Given the description of an element on the screen output the (x, y) to click on. 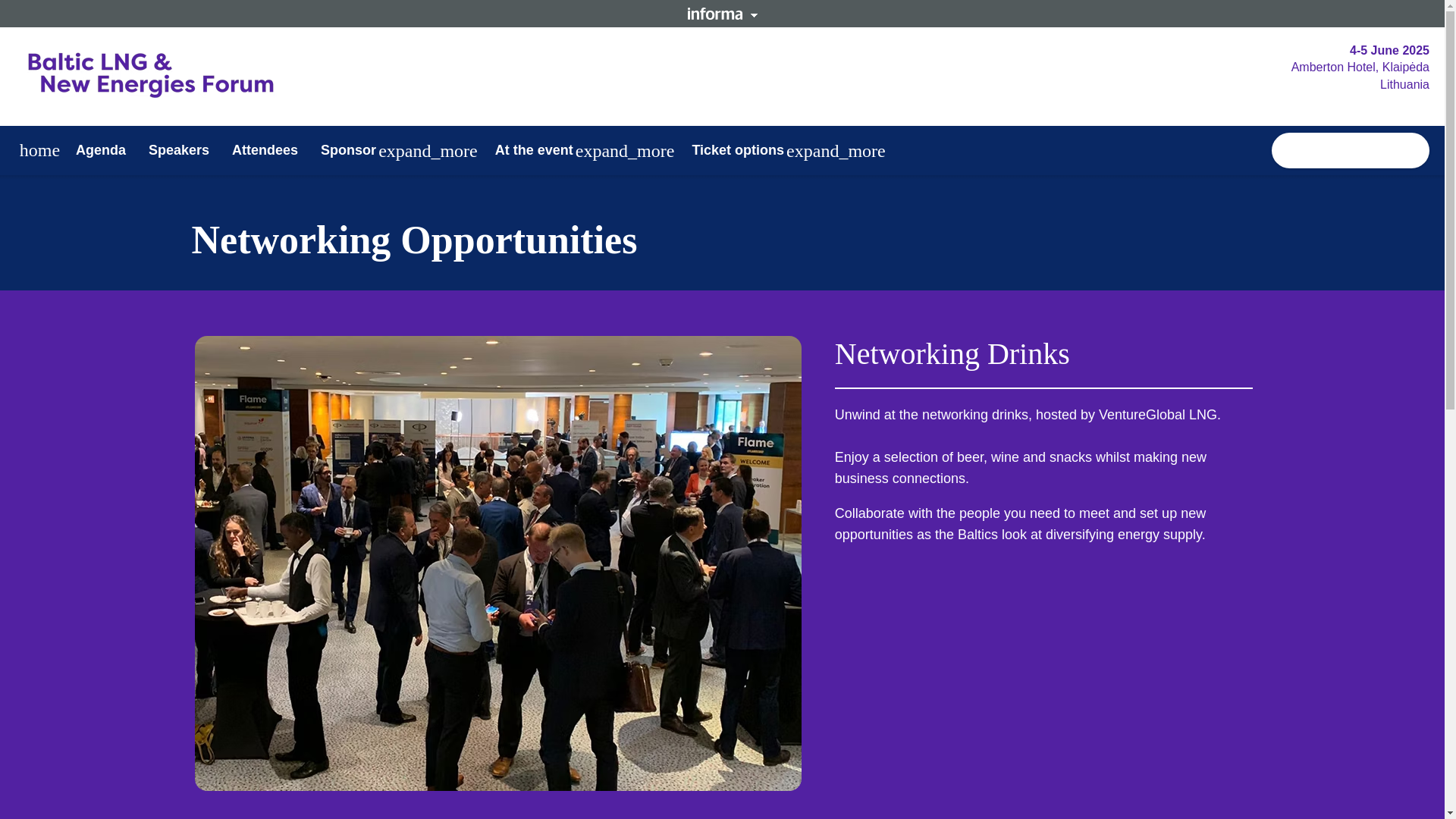
Book Now (1350, 150)
Agenda (100, 150)
Attendees (264, 150)
home (39, 150)
Speakers (178, 150)
